Given the description of an element on the screen output the (x, y) to click on. 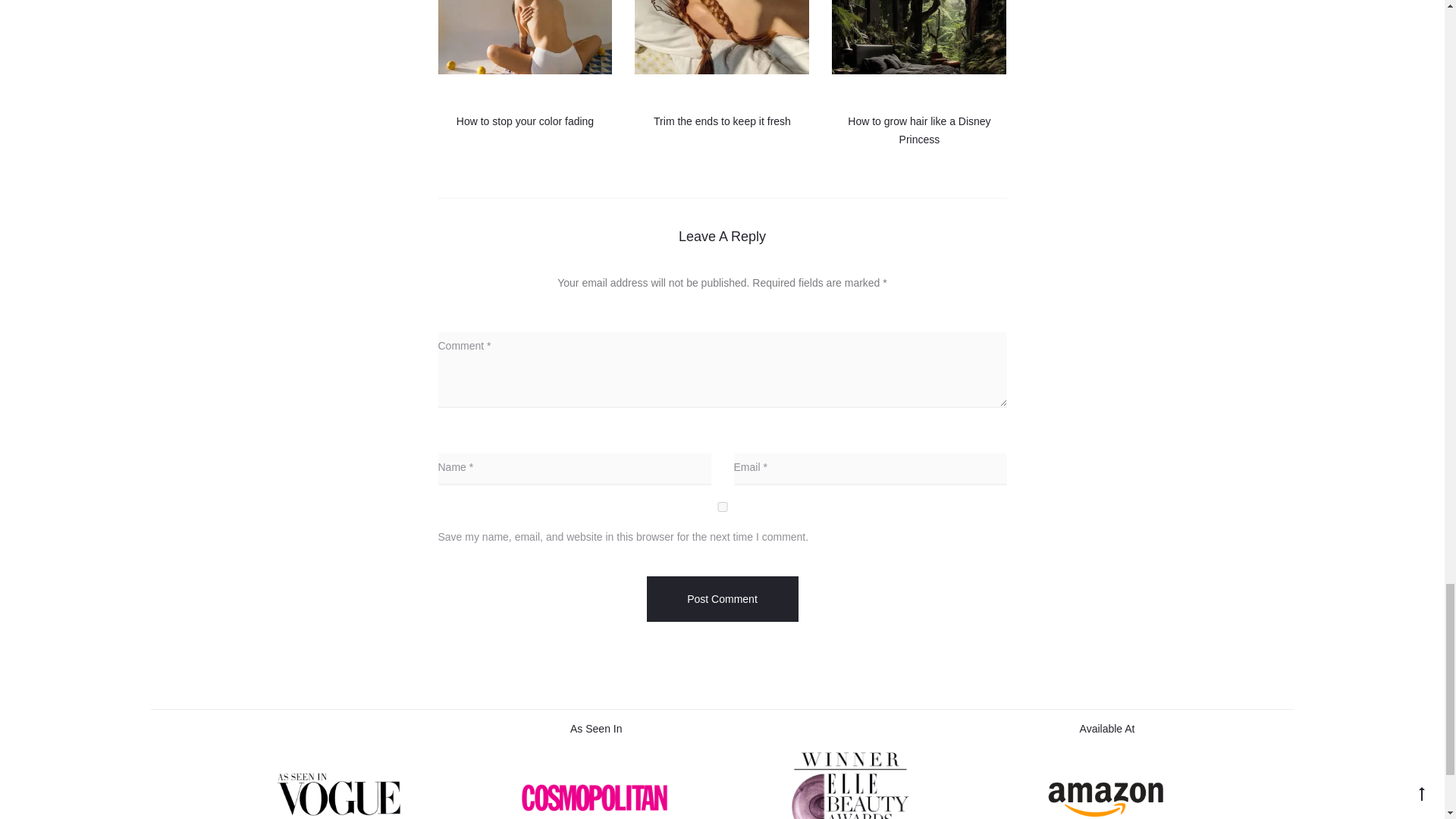
How to grow hair like a Disney Princess (918, 130)
Trim the ends to keep it fresh (721, 121)
yes (722, 506)
Post Comment (721, 598)
How to stop your color fading (525, 121)
Post Comment (721, 598)
